Given the description of an element on the screen output the (x, y) to click on. 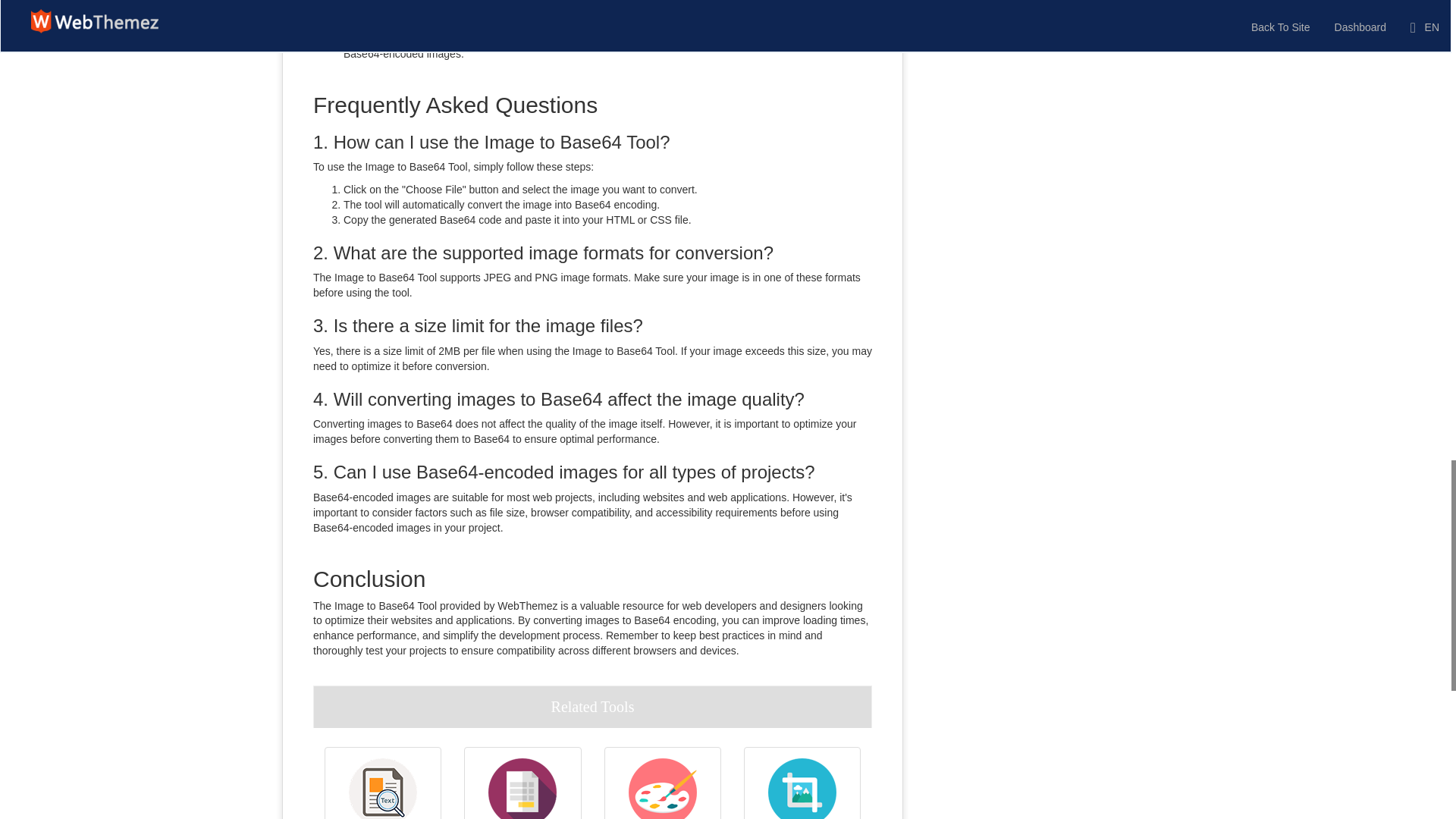
Image Pencil Effect (662, 788)
Free Base64 to Image Tool (521, 788)
Image Pencil Effect (662, 788)
Text to Image (383, 788)
Image Crop Tool (802, 788)
Text to Image (383, 788)
Free Base64 to Image Tool (521, 788)
Image Crop Tool (802, 788)
